Given the description of an element on the screen output the (x, y) to click on. 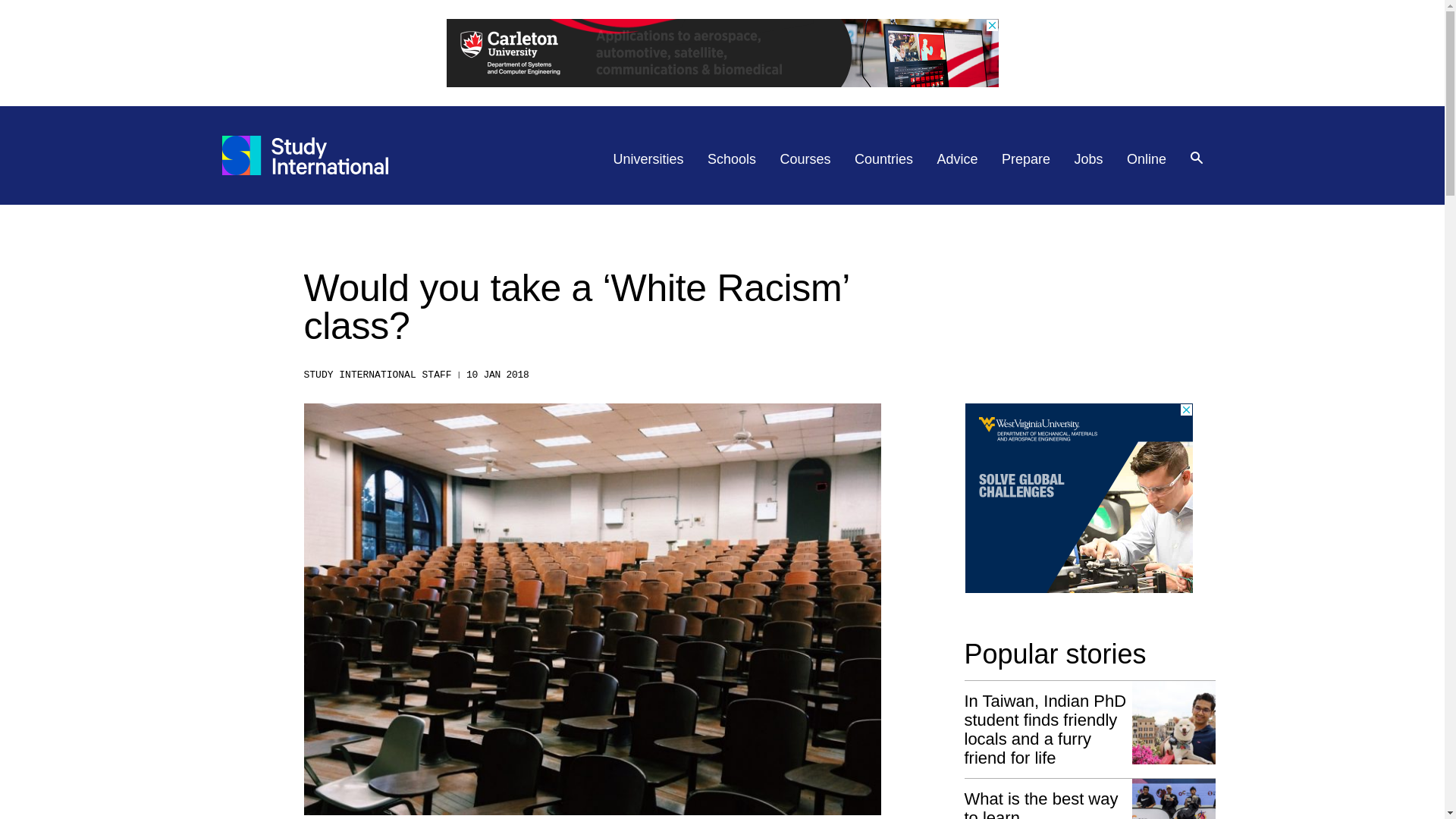
Courses (805, 159)
Jobs (1088, 159)
3rd party ad content (1078, 497)
Advice (957, 159)
Schools (731, 159)
3rd party ad content (721, 52)
Countries (883, 159)
Prepare (1025, 159)
STUDY INTERNATIONAL STAFF (376, 374)
